Given the description of an element on the screen output the (x, y) to click on. 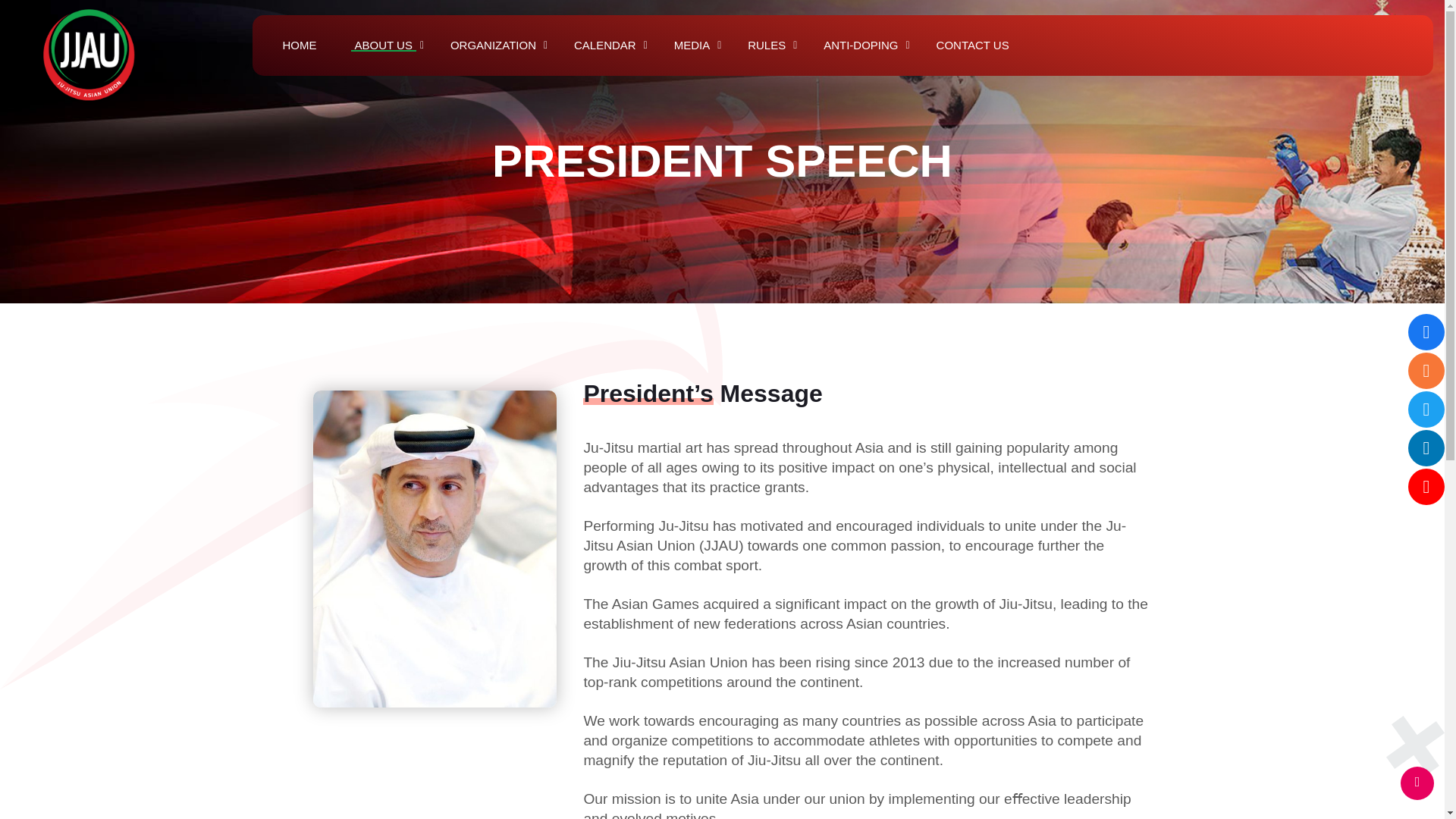
CALENDAR (605, 45)
ABOUT US (382, 45)
ORGANIZATION (493, 45)
